Given the description of an element on the screen output the (x, y) to click on. 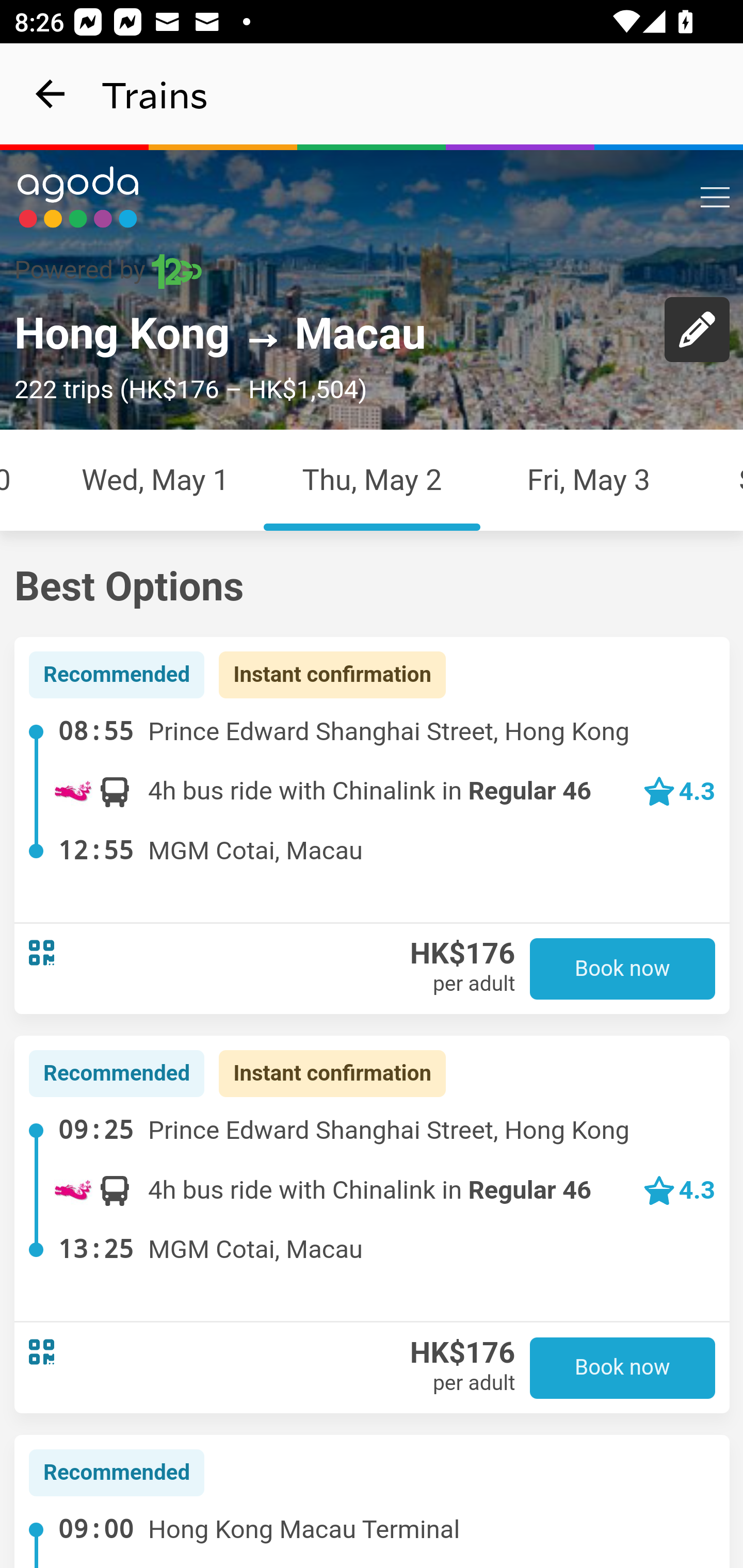
navigation_button (50, 93)
Link to main page 5418 (78, 197)
Wed, May 1 (154, 478)
Thu, May 2 (371, 478)
Fri, May 3 (589, 478)
4.3 (678, 791)
Book now (622, 968)
4.3 (678, 1190)
Book now (622, 1366)
Recommended 09:00 Hong Kong Macau Terminal (372, 1500)
